Given the description of an element on the screen output the (x, y) to click on. 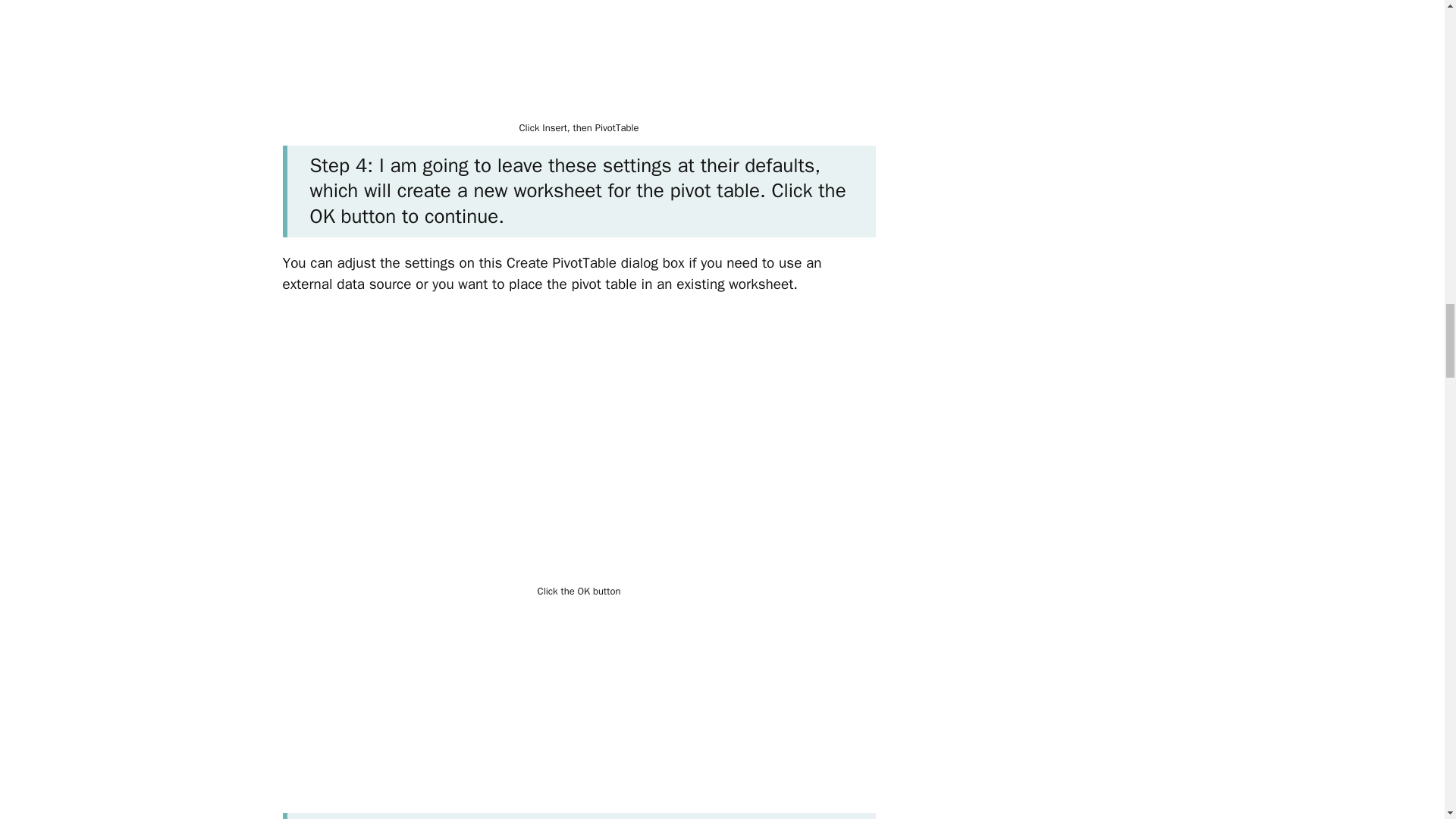
How to Create a Pivot Table in Excel 2013 2 (579, 58)
How to Create a Pivot Table in Excel 2013 3 (579, 447)
